Given the description of an element on the screen output the (x, y) to click on. 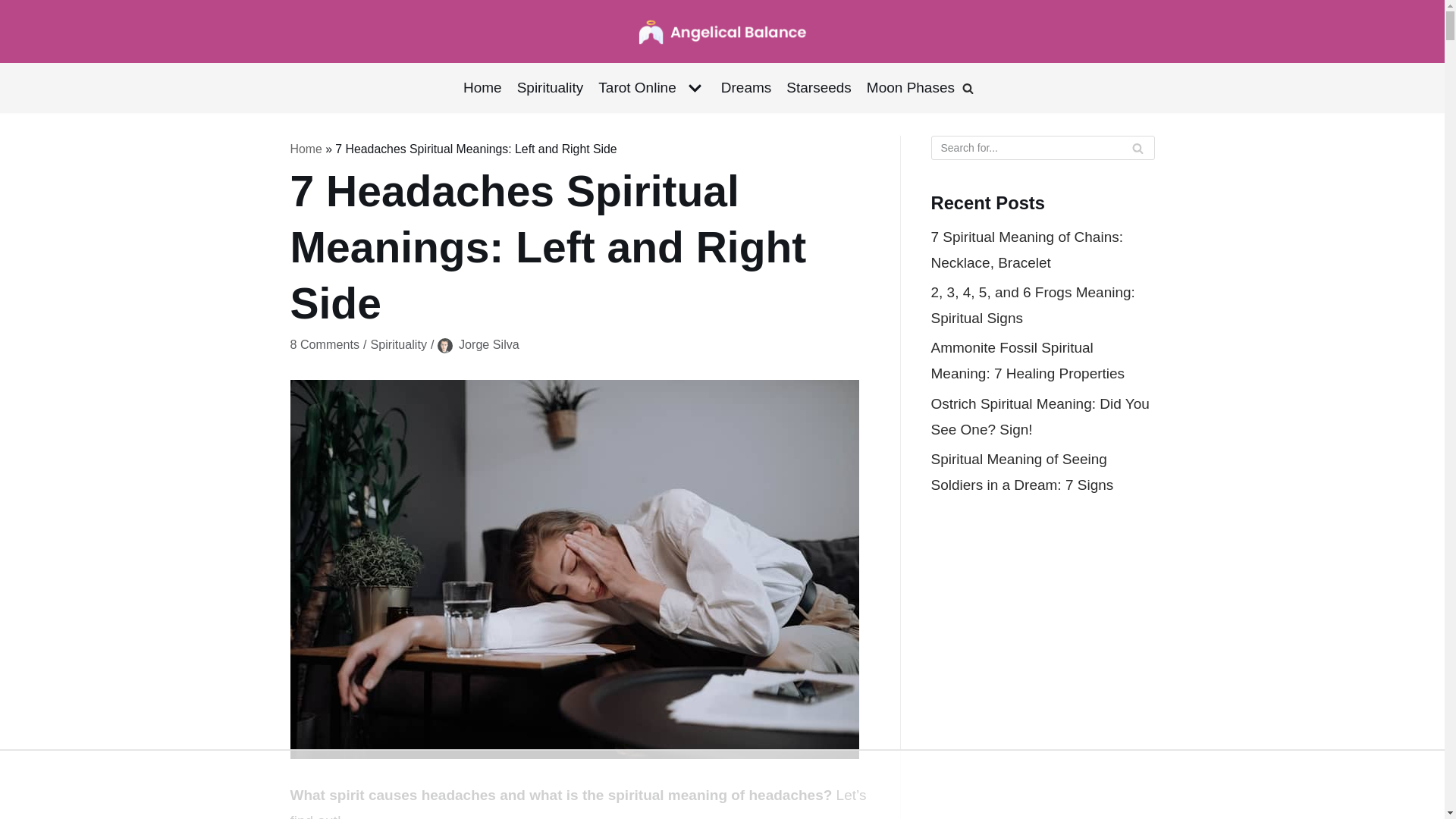
Dreams (745, 87)
Angelical Balance (721, 31)
Moon Phases (910, 87)
Starseeds (818, 87)
Tarot Online (651, 87)
Posts by Jorge Silva (488, 344)
Home (482, 87)
Skip to content (15, 7)
Spirituality (549, 87)
